Given the description of an element on the screen output the (x, y) to click on. 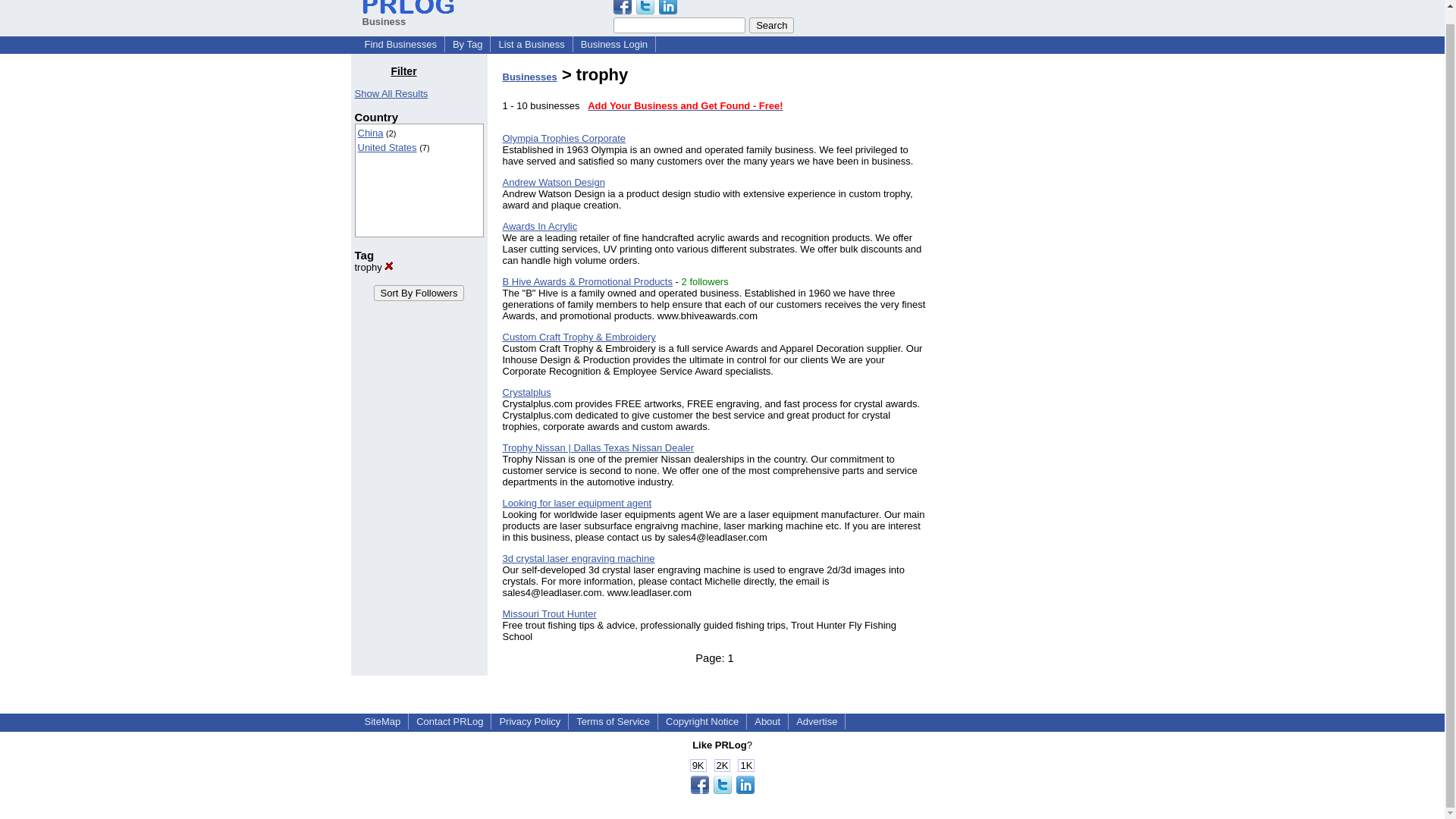
SiteMap (382, 721)
Add Your Business and Get Found - Free! (685, 105)
Sort By Followers (419, 293)
Missouri Trout Hunter (548, 613)
By Tag (467, 43)
Click on an option to filter or browse by that option (419, 180)
Crystalplus (526, 392)
Contact PRLog (449, 721)
Copyright Notice (701, 721)
Search (771, 25)
